Given the description of an element on the screen output the (x, y) to click on. 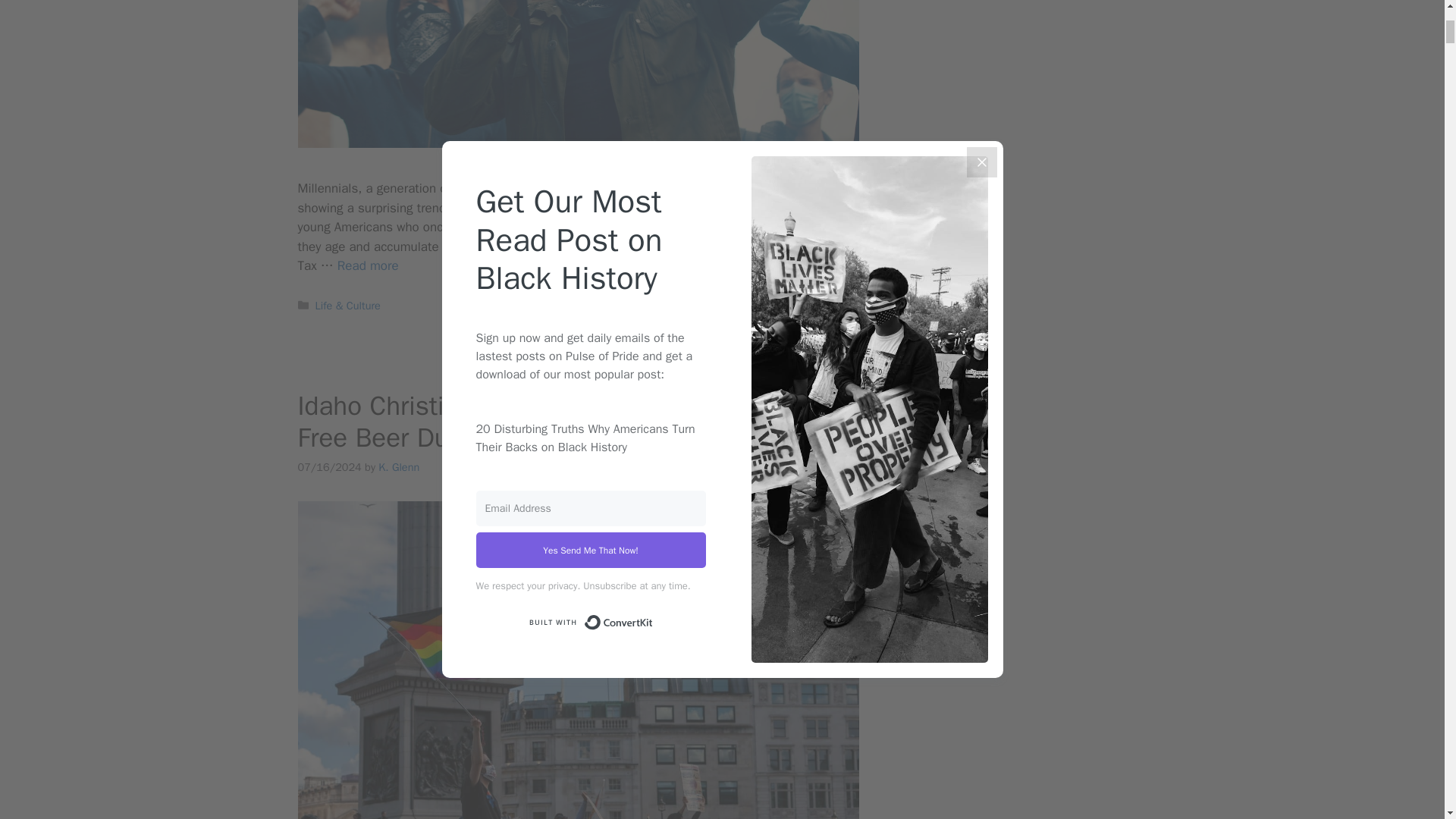
View all posts by K. Glenn (398, 467)
Rejecting Woke: 21 Signs Millennials Are Becoming Right-Wing (367, 265)
K. Glenn (398, 467)
Read more (367, 265)
